Given the description of an element on the screen output the (x, y) to click on. 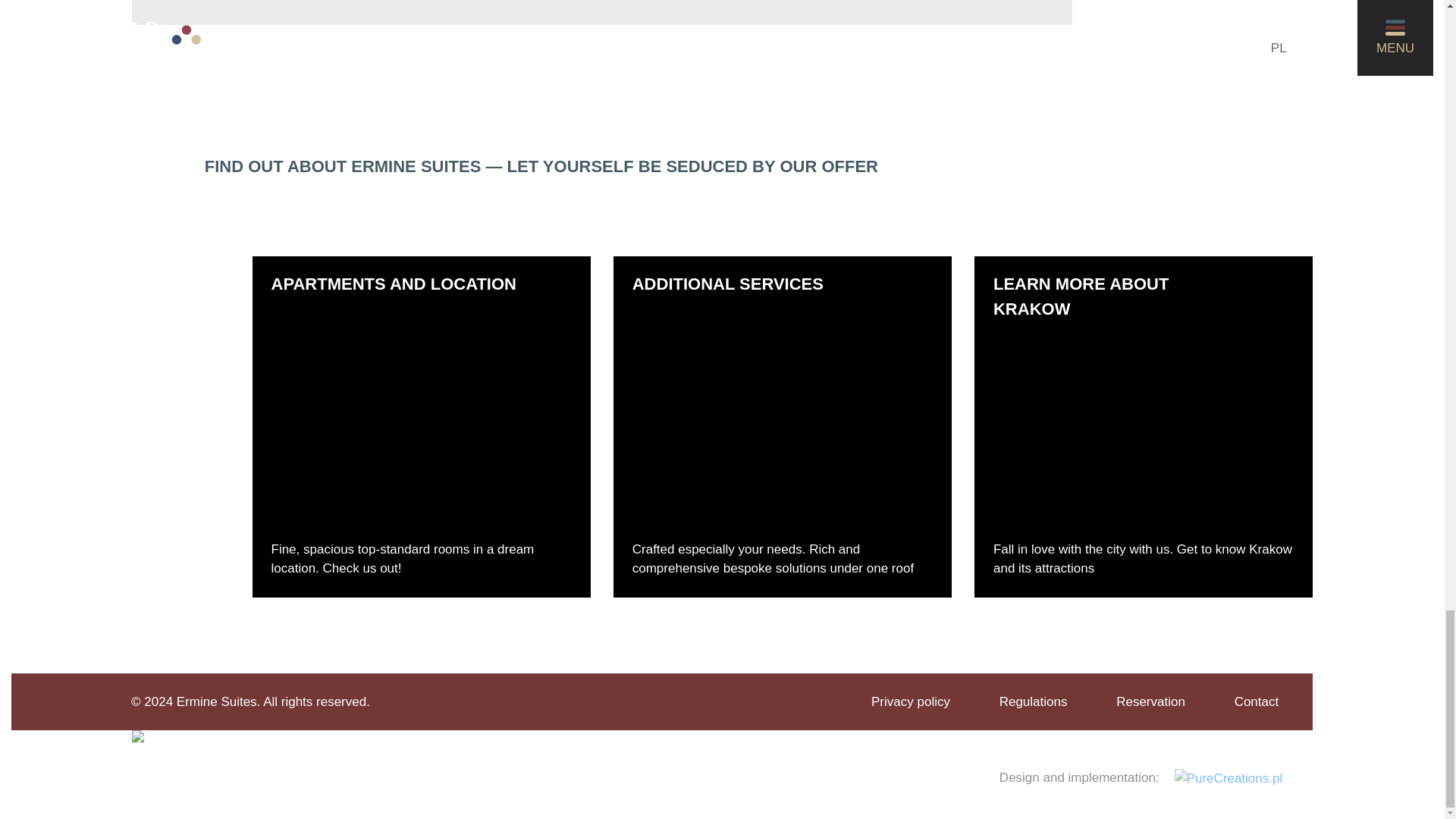
Regulations (1032, 701)
Privacy policy (910, 701)
Reservation (1150, 701)
Contact (1256, 701)
